Given the description of an element on the screen output the (x, y) to click on. 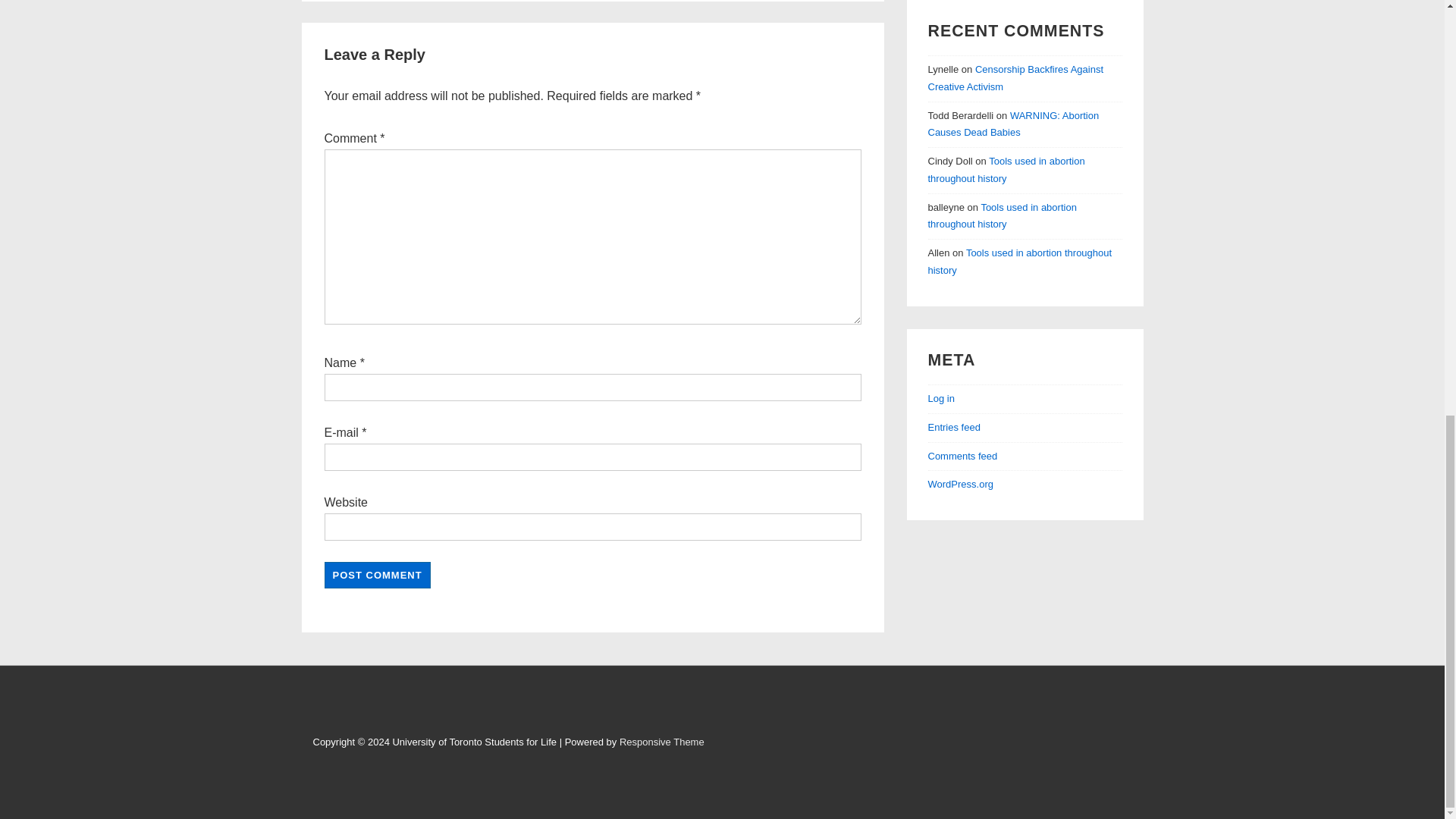
Censorship Backfires Against Creative Activism (1015, 77)
WARNING: Abortion Causes Dead Babies (1013, 123)
Post Comment (377, 574)
Post Comment (377, 574)
